Given the description of an element on the screen output the (x, y) to click on. 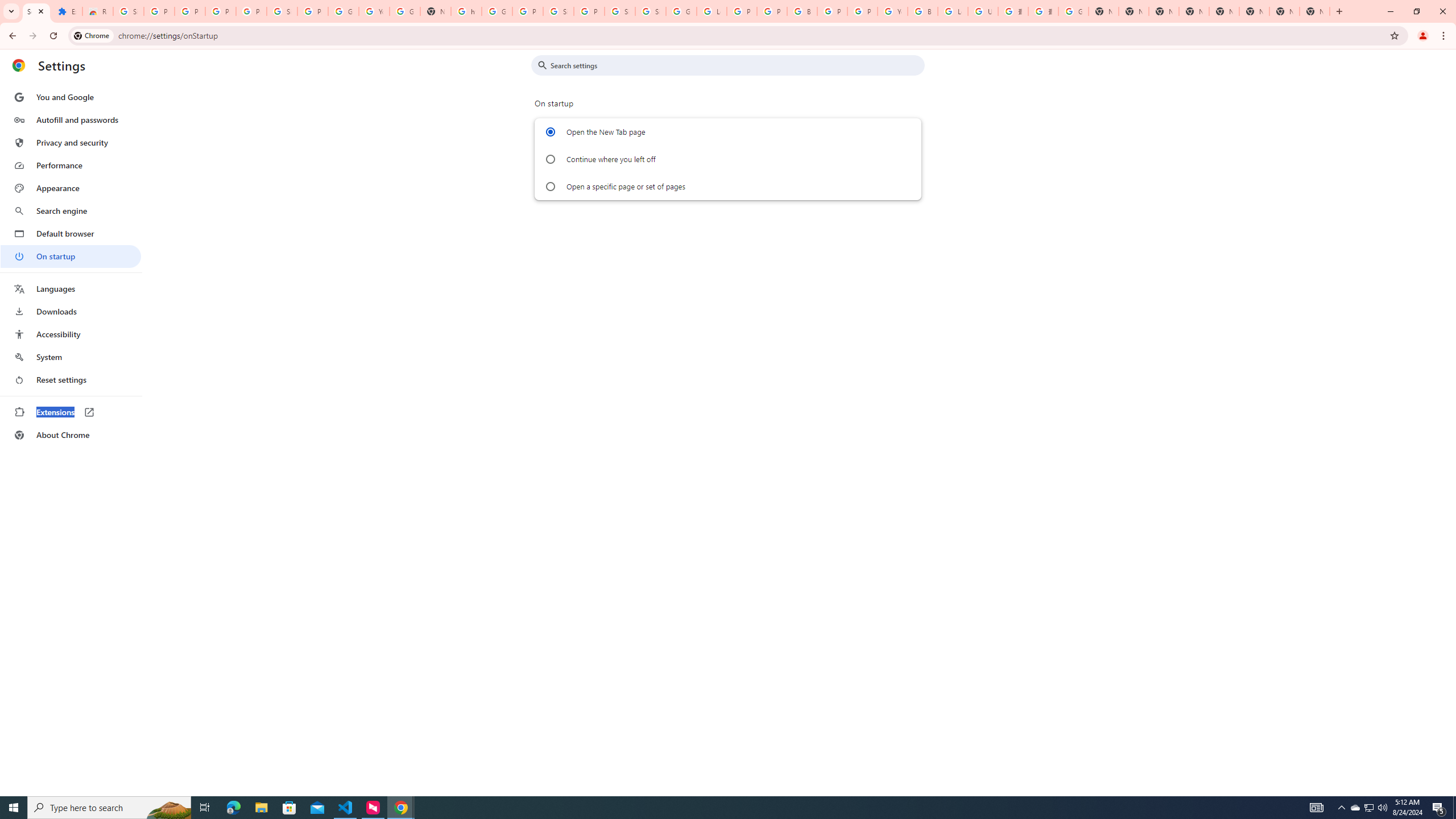
Reviews: Helix Fruit Jump Arcade Game (97, 11)
Sign in - Google Accounts (619, 11)
Google Account (343, 11)
Extensions (70, 412)
Sign in - Google Accounts (127, 11)
Privacy Help Center - Policies Help (771, 11)
